Given the description of an element on the screen output the (x, y) to click on. 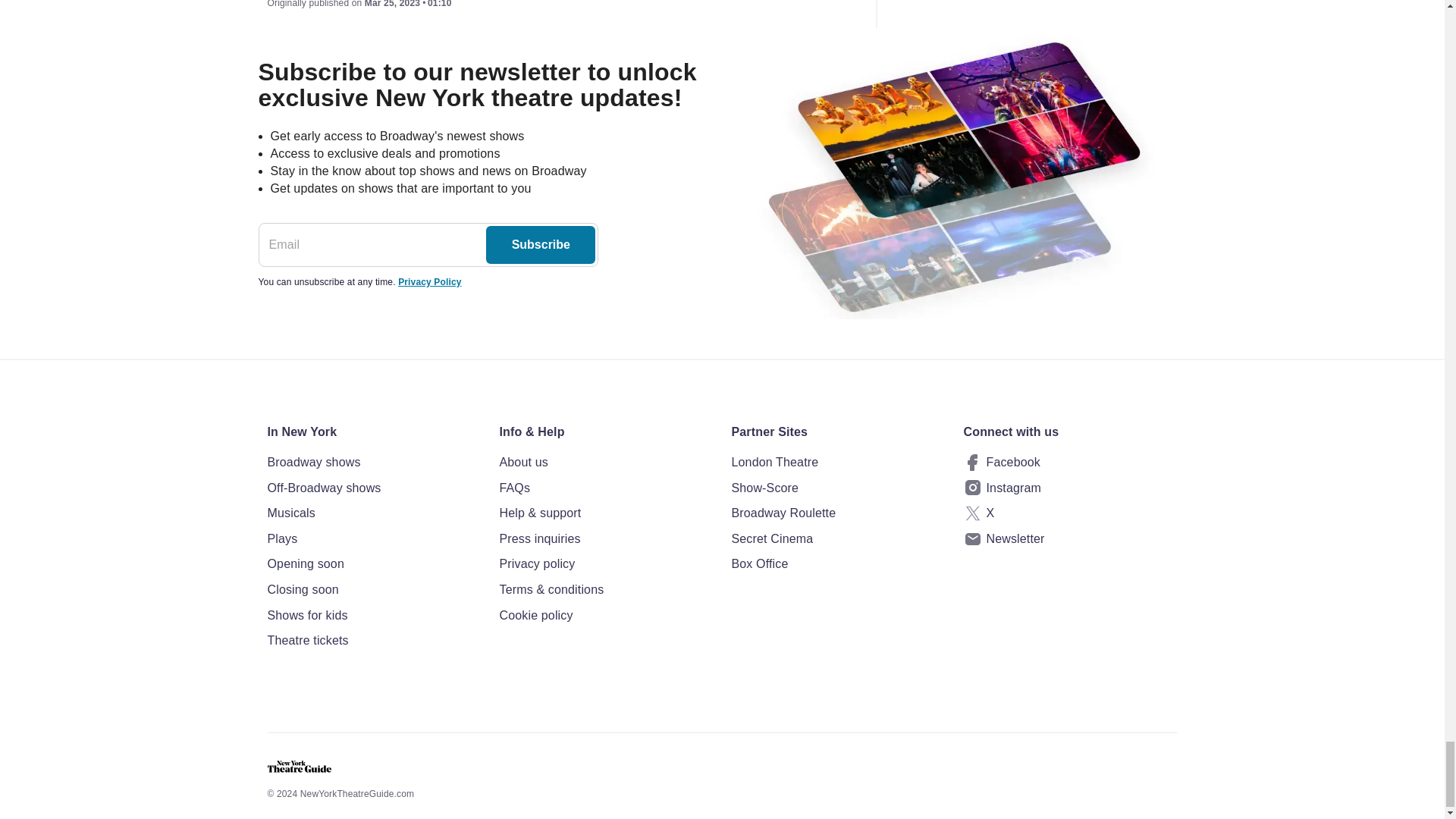
Secret Cinema (837, 538)
Cookie policy (606, 615)
Theatre tickets (373, 640)
Press inquiries (606, 538)
Privacy policy (606, 564)
Broadway Roulette (837, 513)
About us (606, 462)
Closing soon (373, 589)
Plays (373, 538)
London Theatre (837, 462)
Broadway shows (373, 462)
FAQs (606, 487)
Show-Score (837, 487)
Opening soon (373, 564)
Musicals (373, 513)
